Given the description of an element on the screen output the (x, y) to click on. 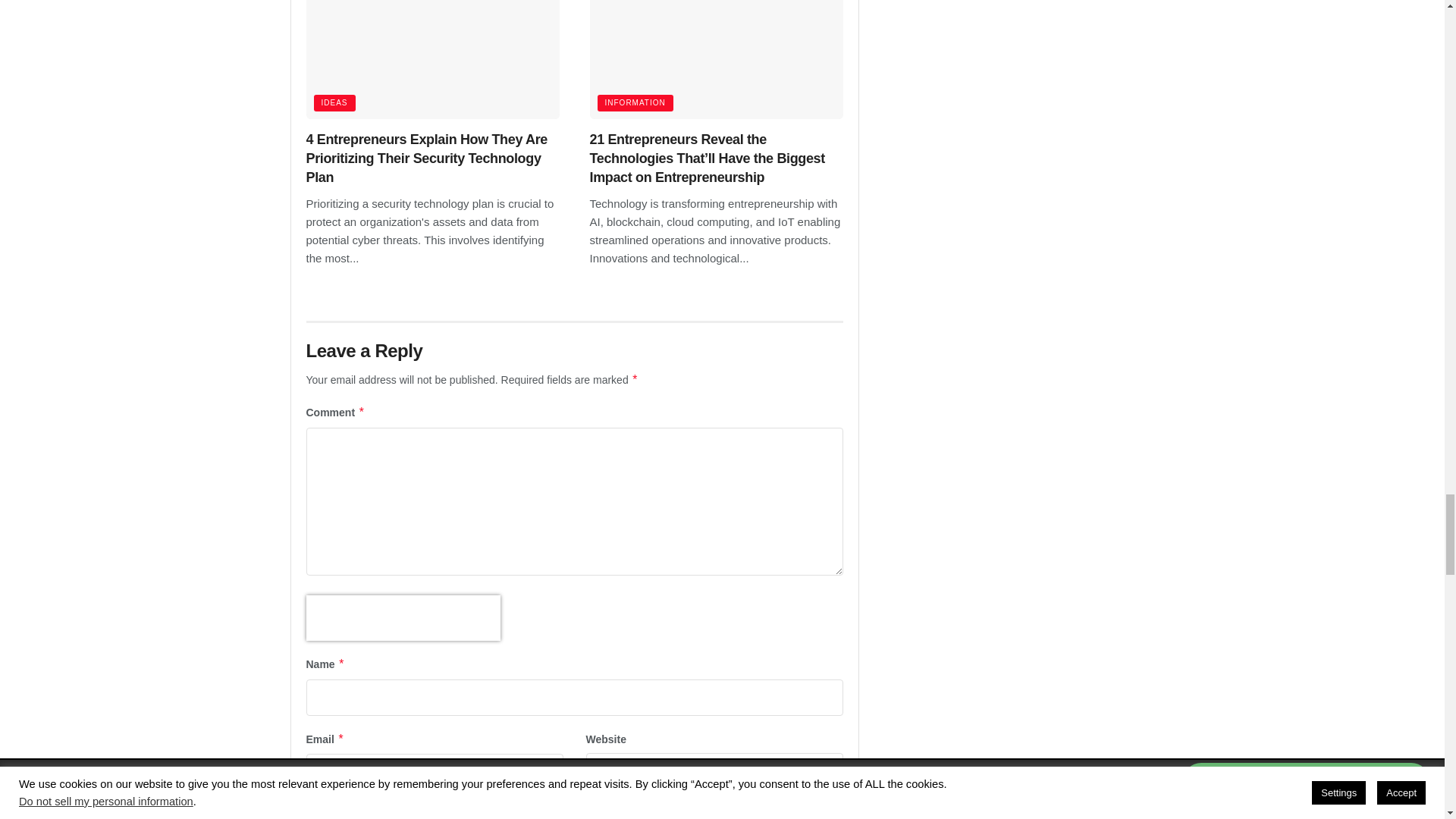
reCAPTCHA (402, 617)
